Given the description of an element on the screen output the (x, y) to click on. 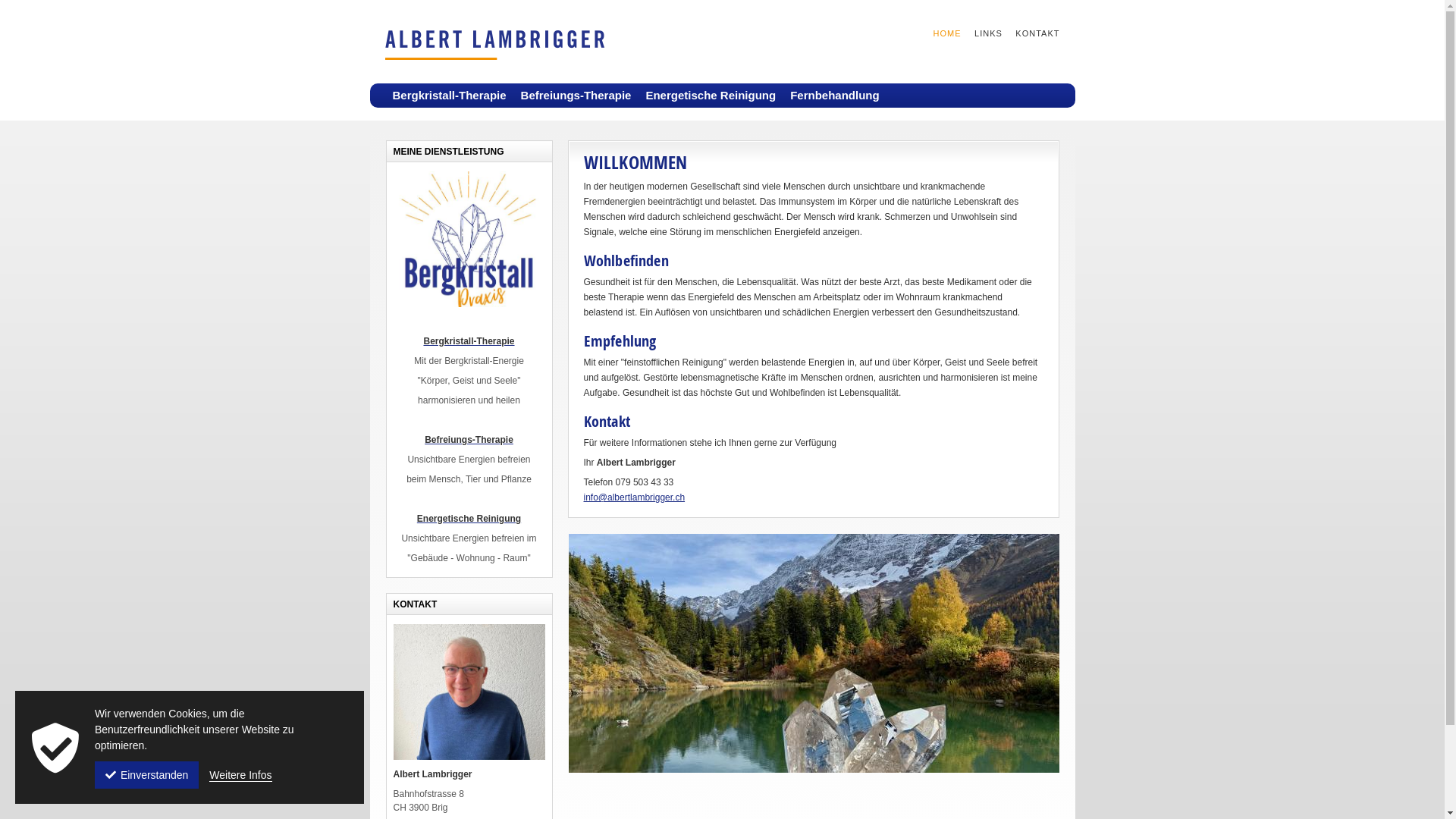
Bergkristall-Therapie Element type: text (468, 340)
KONTAKT Element type: text (1031, 32)
Energetische Reinigung Element type: text (713, 96)
LINKS Element type: text (981, 32)
Bergkristall-Therapie Element type: text (452, 96)
Energetische Reinigung Element type: text (468, 518)
Fernbehandlung Element type: text (838, 96)
Befreiungs-Therapie Element type: text (468, 439)
Befreiungs-Therapie Element type: text (579, 96)
info@albertlambrigger.ch Element type: text (634, 497)
Einverstanden Element type: text (146, 774)
HOME Element type: text (940, 32)
Weitere Infos Element type: text (240, 775)
